Given the description of an element on the screen output the (x, y) to click on. 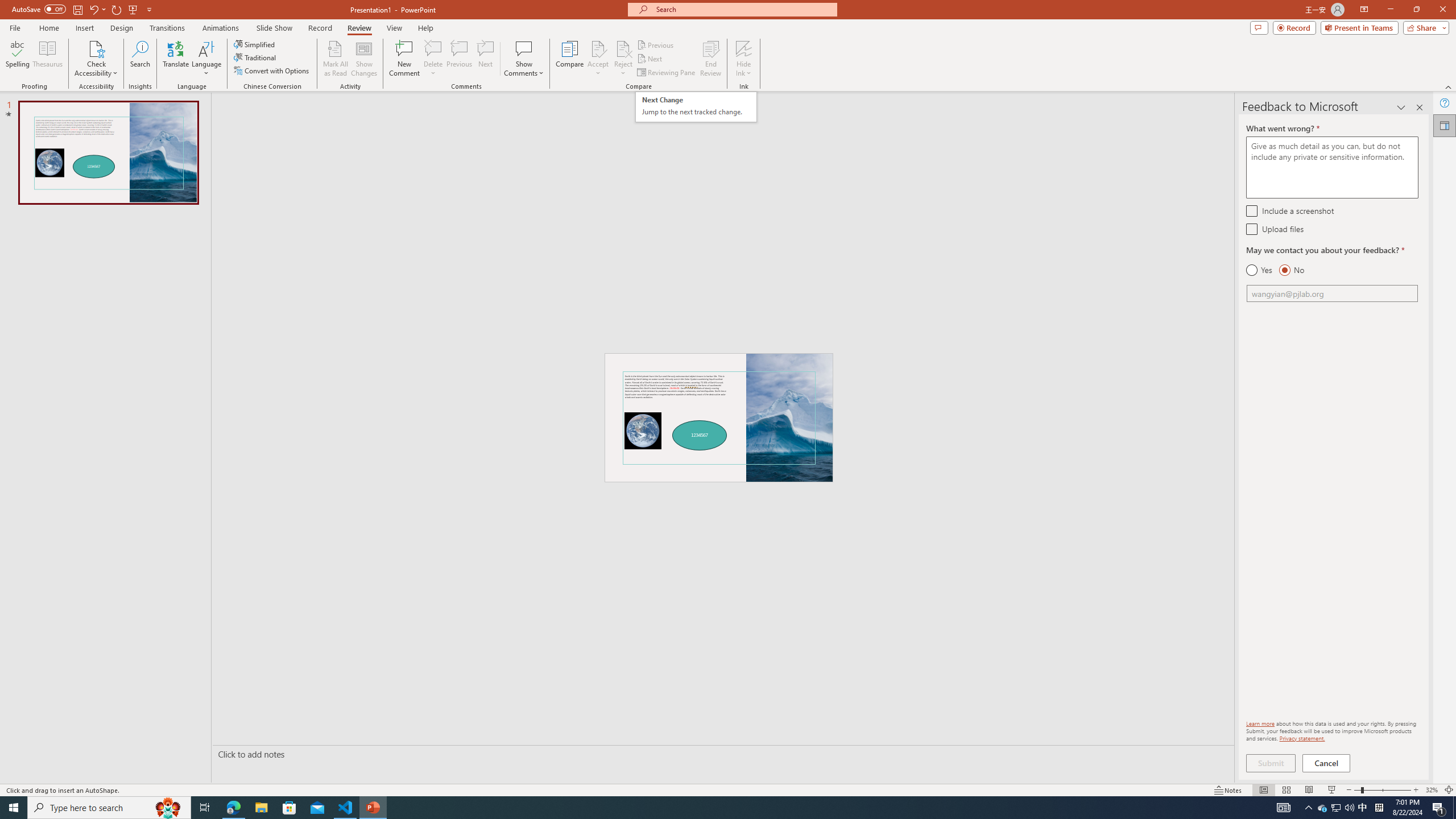
Spelling... (17, 58)
Compare (569, 58)
Yes (1259, 269)
Accept (598, 58)
Convert with Options... (272, 69)
Reject (622, 58)
